Given the description of an element on the screen output the (x, y) to click on. 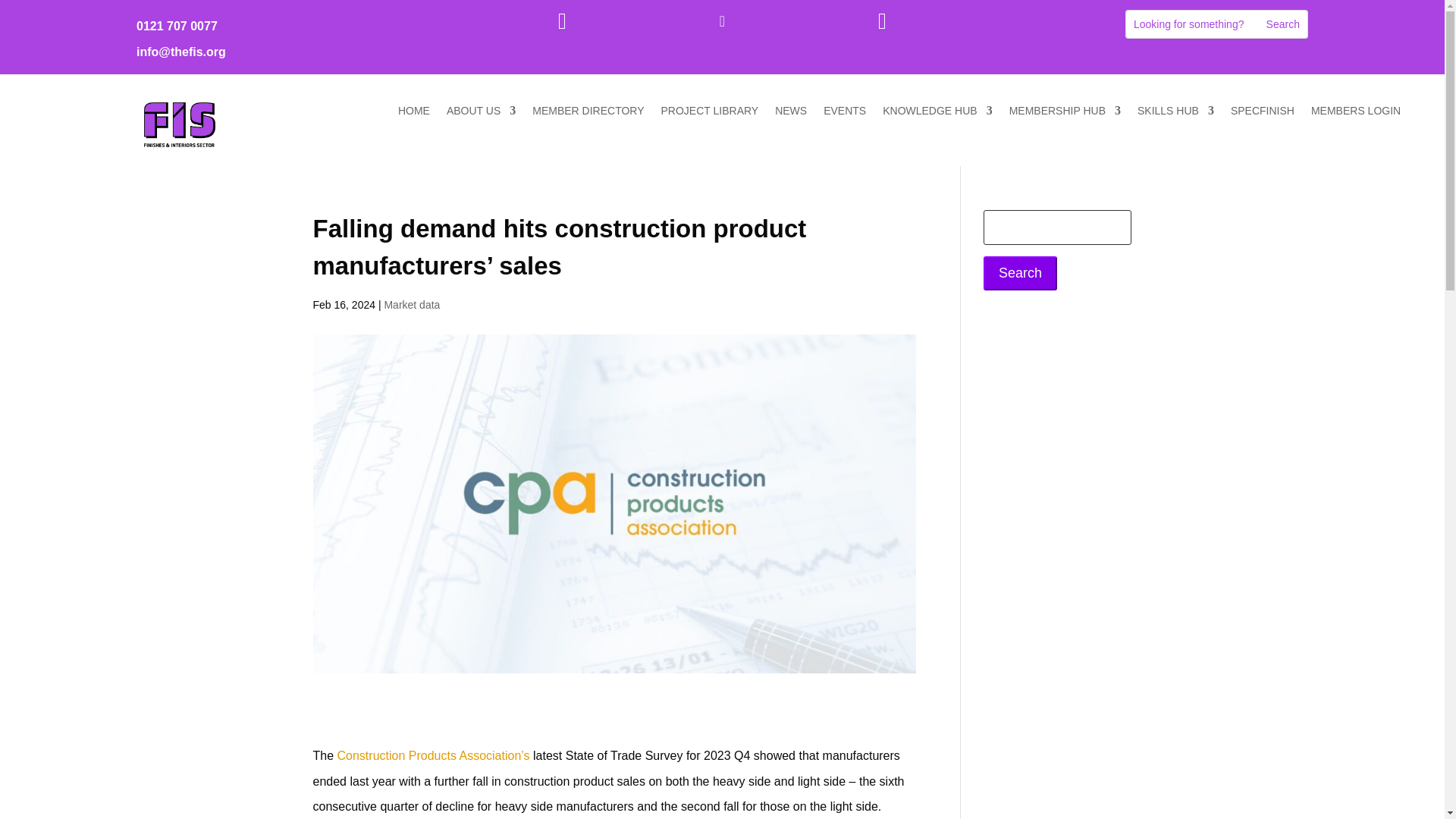
Search (1283, 23)
NEWS (790, 113)
Search (1283, 23)
MEMBER DIRECTORY (587, 113)
Search (1020, 273)
EVENTS (845, 113)
MEMBERSHIP HUB (1065, 113)
Search (1283, 23)
PROJECT LIBRARY (709, 113)
KNOWLEDGE HUB (936, 113)
